Given the description of an element on the screen output the (x, y) to click on. 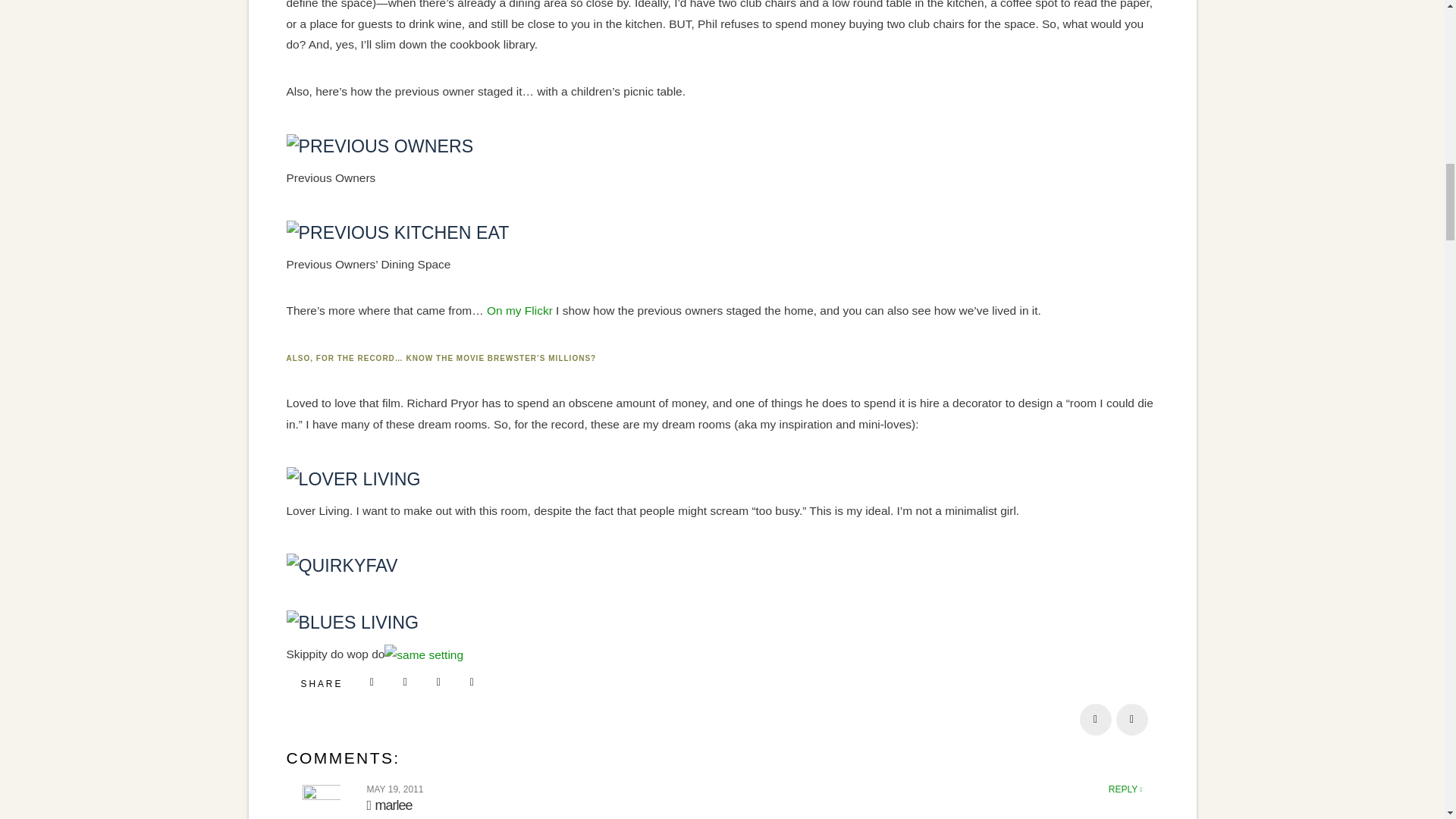
quirkyfav (341, 564)
previous kitchen eat (397, 230)
MAY 19, 2011 (394, 788)
Next (1132, 719)
previous owners (380, 144)
Prev (1096, 719)
REPLY (1125, 788)
On my Flickr (519, 309)
lover living (353, 477)
blues living (352, 620)
